Given the description of an element on the screen output the (x, y) to click on. 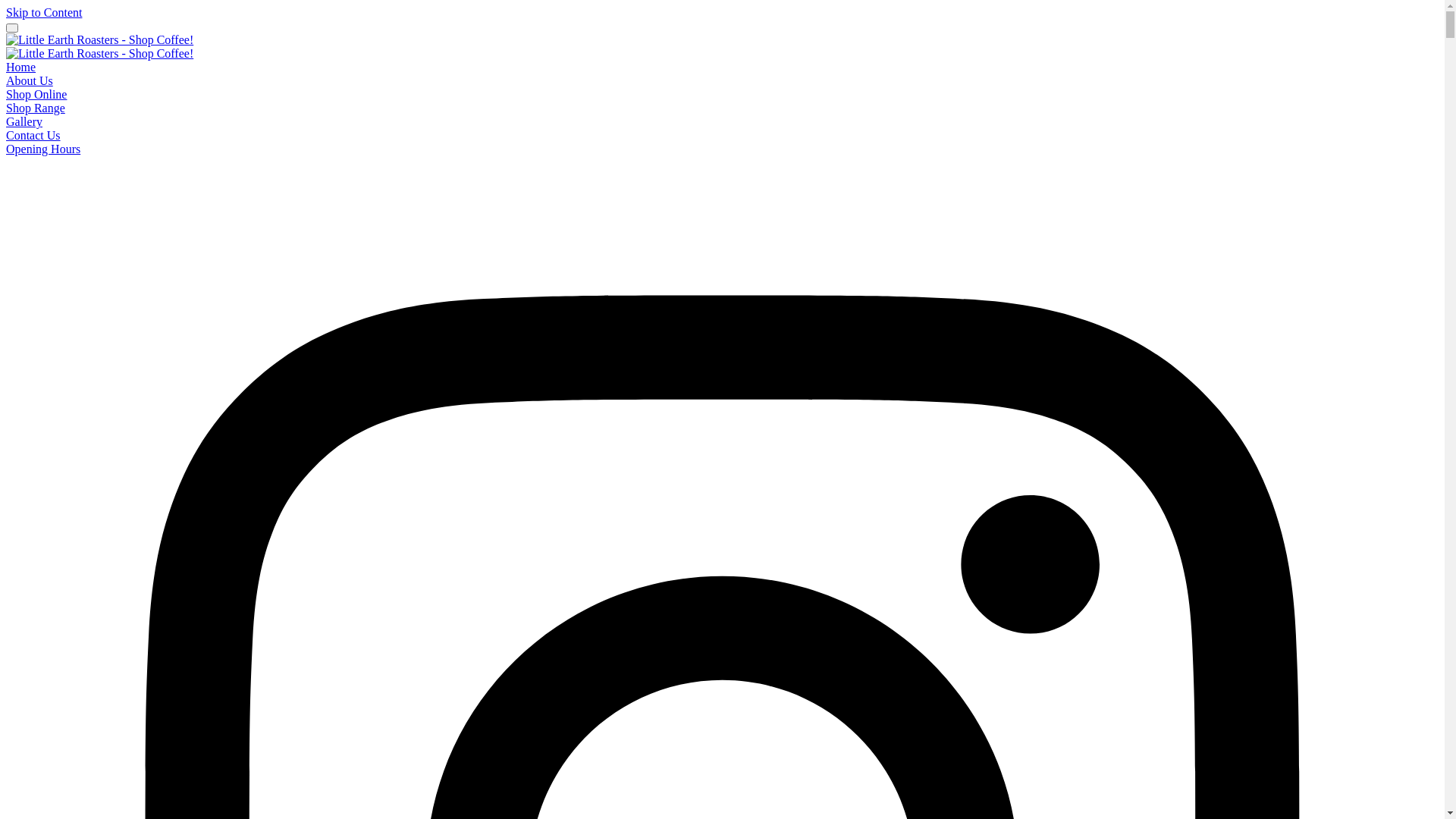
Home Element type: text (20, 66)
About Us Element type: text (29, 80)
Shop Range Element type: text (35, 107)
Opening Hours Element type: text (43, 148)
Shop Online Element type: text (36, 93)
Contact Us Element type: text (33, 134)
Skip to Content Element type: text (43, 12)
Gallery Element type: text (24, 121)
